Given the description of an element on the screen output the (x, y) to click on. 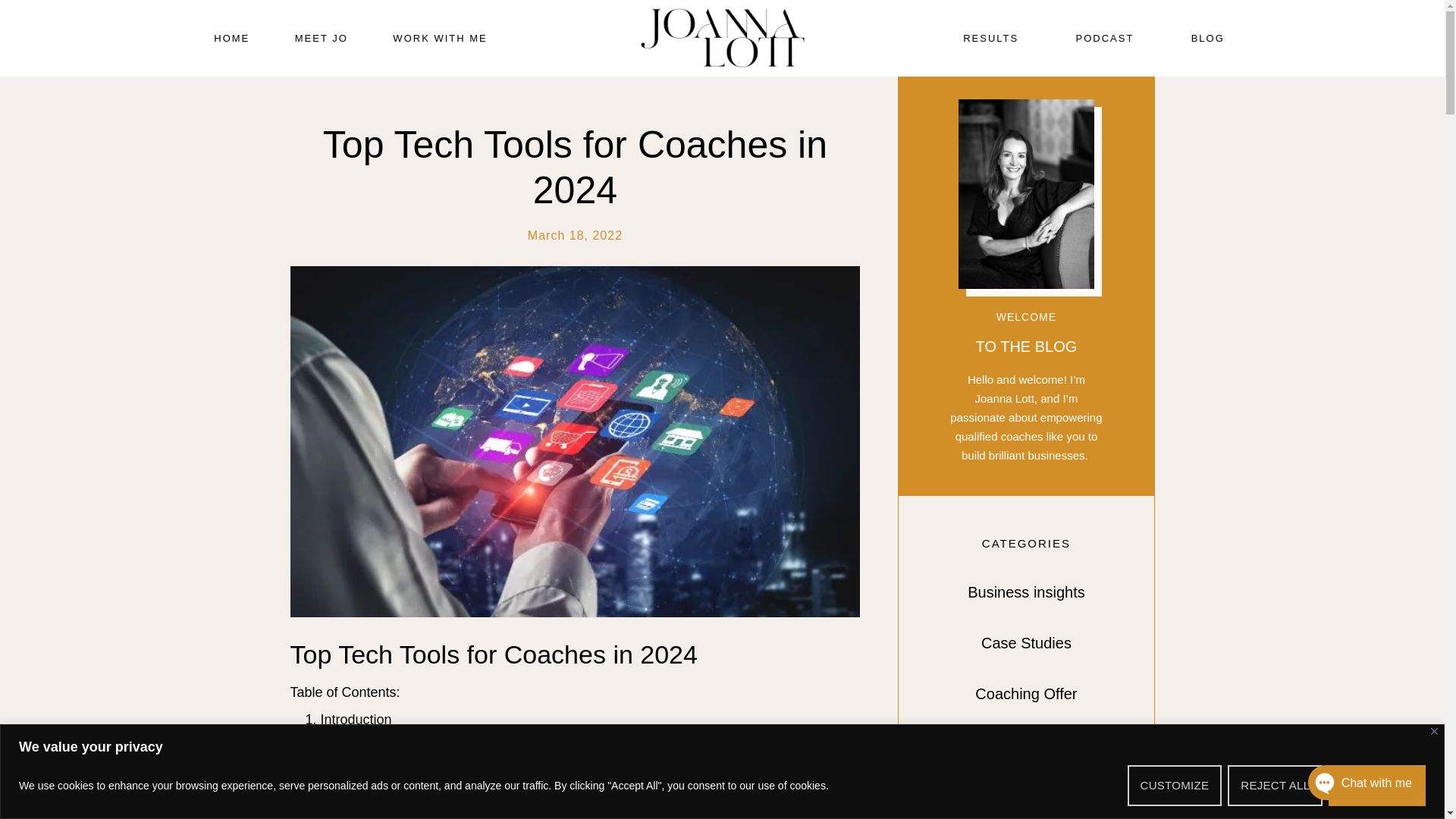
CUSTOMIZE (1174, 784)
PODCAST (1103, 38)
BLOG (1206, 38)
HOME (231, 38)
RESULTS (990, 38)
MEET JO (321, 38)
WORK WITH ME (441, 38)
ACCEPT ALL (1376, 784)
March 18, 2022 (575, 235)
REJECT ALL (1274, 784)
Chat with me (1351, 786)
